Given the description of an element on the screen output the (x, y) to click on. 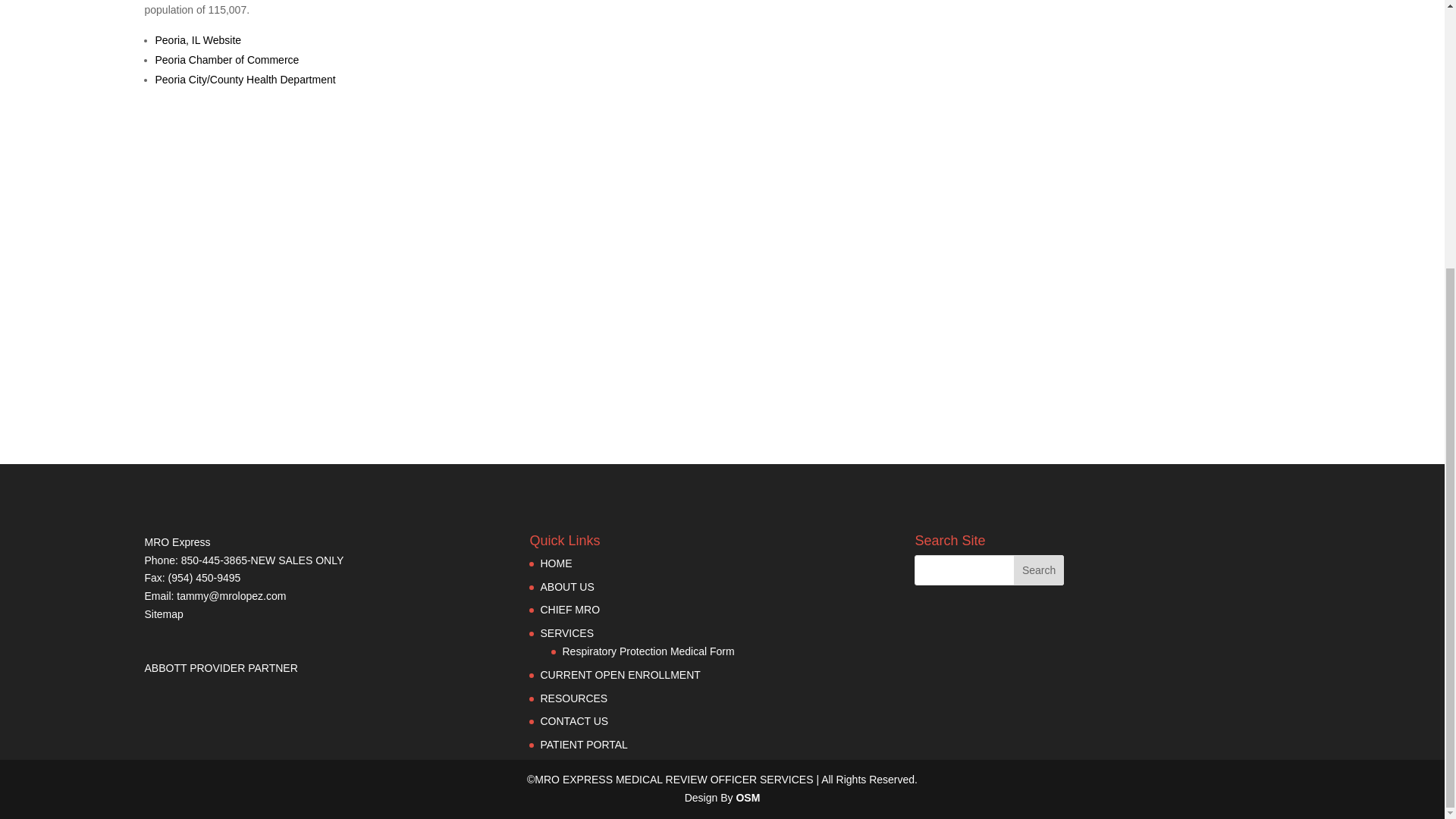
CURRENT OPEN ENROLLMENT (620, 674)
Search (1038, 570)
RESOURCES (573, 698)
Sitemap (163, 613)
ABOUT US (567, 586)
HOME (556, 563)
Peoria, IL Website (197, 39)
CONTACT US (574, 720)
PATIENT PORTAL (583, 744)
Respiratory Protection Medical Form (647, 651)
OSM (747, 797)
SERVICES (567, 633)
CHIEF MRO (569, 609)
Search (1038, 570)
Peoria Chamber of Commerce (226, 60)
